Given the description of an element on the screen output the (x, y) to click on. 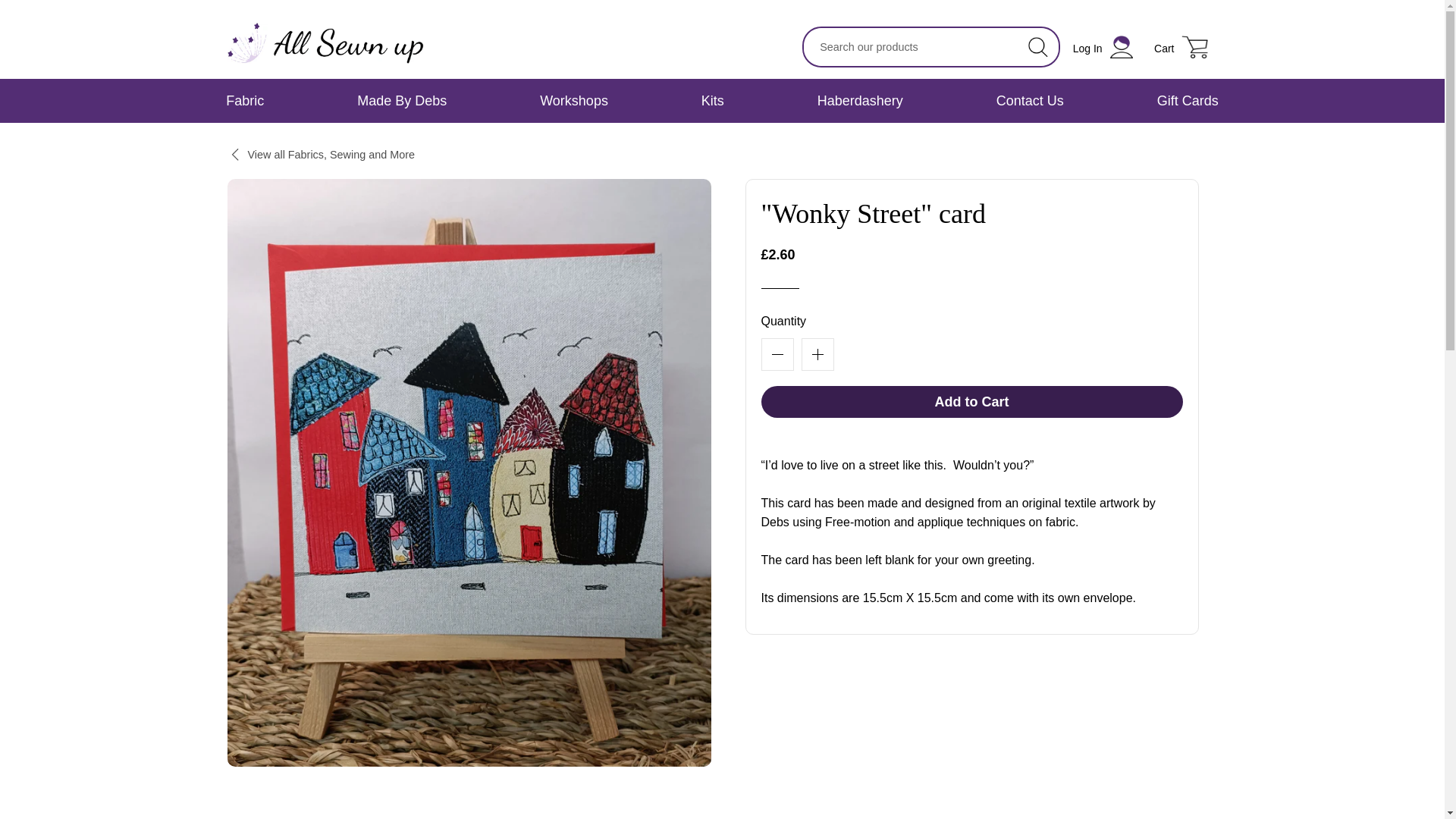
Fabric (245, 100)
Search (1037, 46)
Contact Us (1030, 100)
Cart (1180, 46)
Kits (712, 100)
Workshops (573, 100)
Made By Debs (401, 100)
Add to Cart (1102, 46)
Haberdashery (971, 401)
Gift Cards (859, 100)
View all Fabrics, Sewing and More (1187, 100)
